Given the description of an element on the screen output the (x, y) to click on. 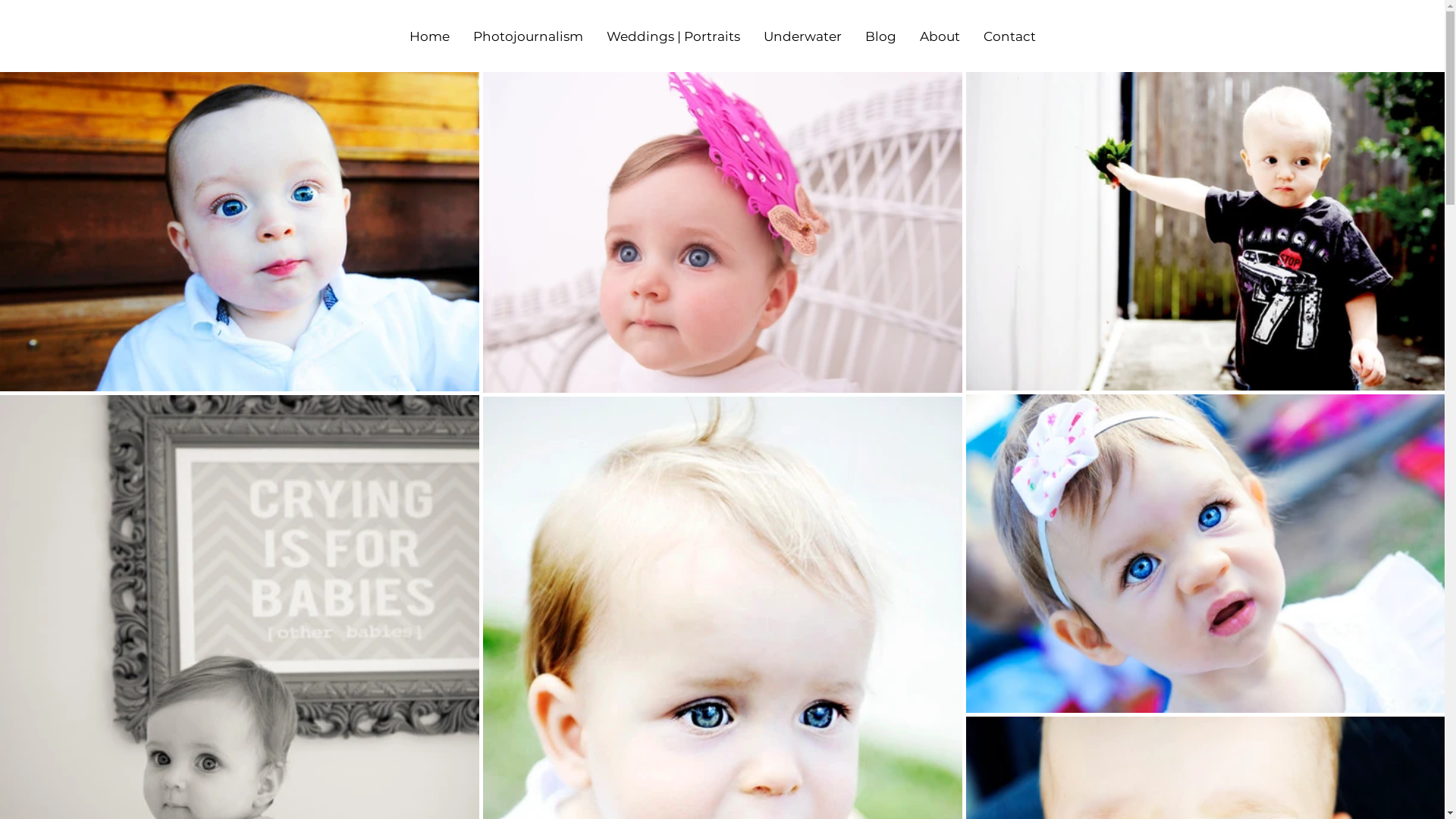
About Element type: text (939, 36)
Home Element type: text (429, 36)
Blog Element type: text (880, 36)
Underwater Element type: text (802, 36)
Contact Element type: text (1009, 36)
